Given the description of an element on the screen output the (x, y) to click on. 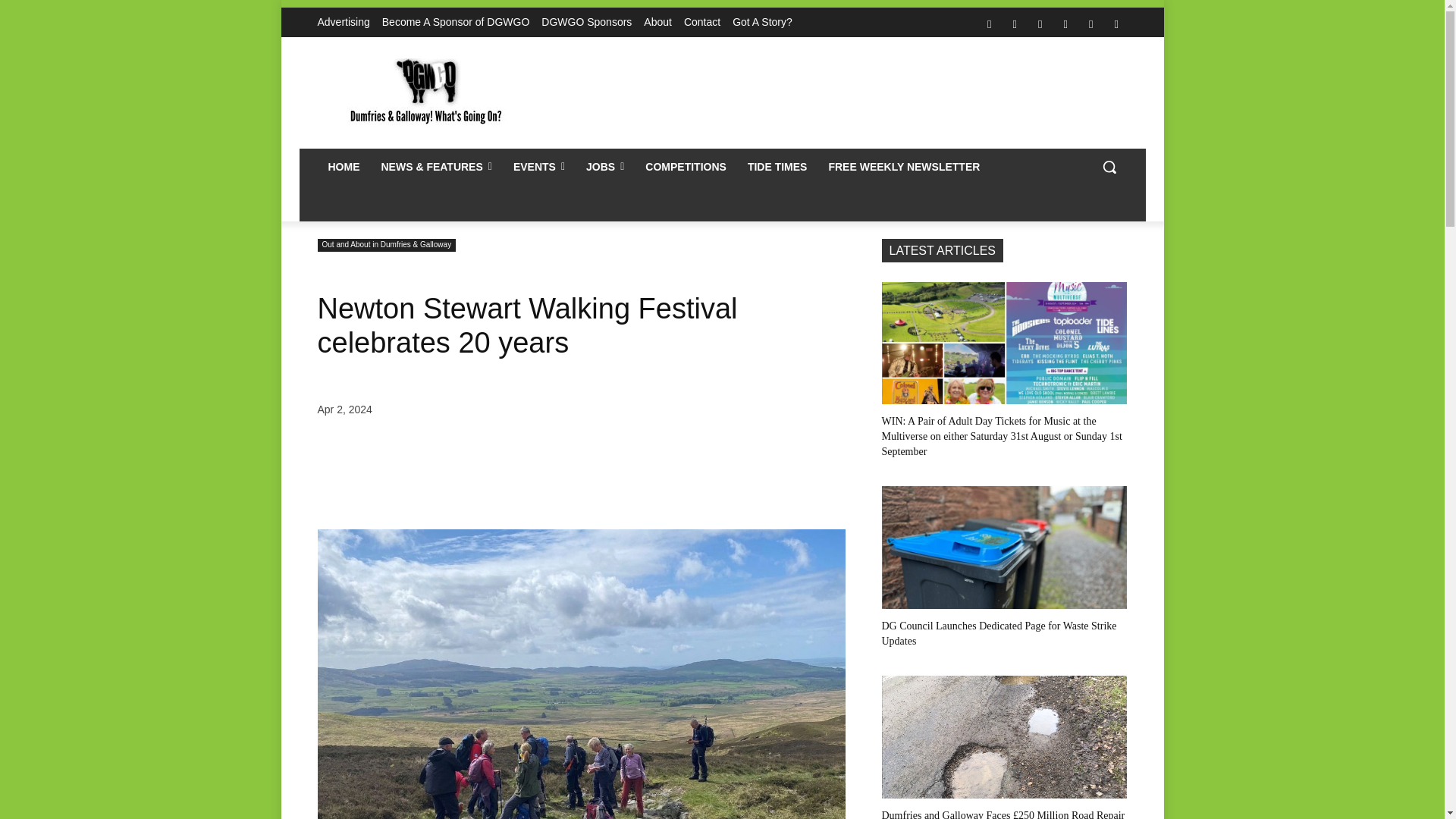
Advertising (343, 21)
DGWGO Sponsors (586, 21)
Facebook (989, 24)
Youtube (1115, 24)
Instagram (1015, 24)
Got A Story? (762, 21)
Contact (702, 21)
TikTok (1065, 24)
About (657, 21)
Mail (1040, 24)
